Given the description of an element on the screen output the (x, y) to click on. 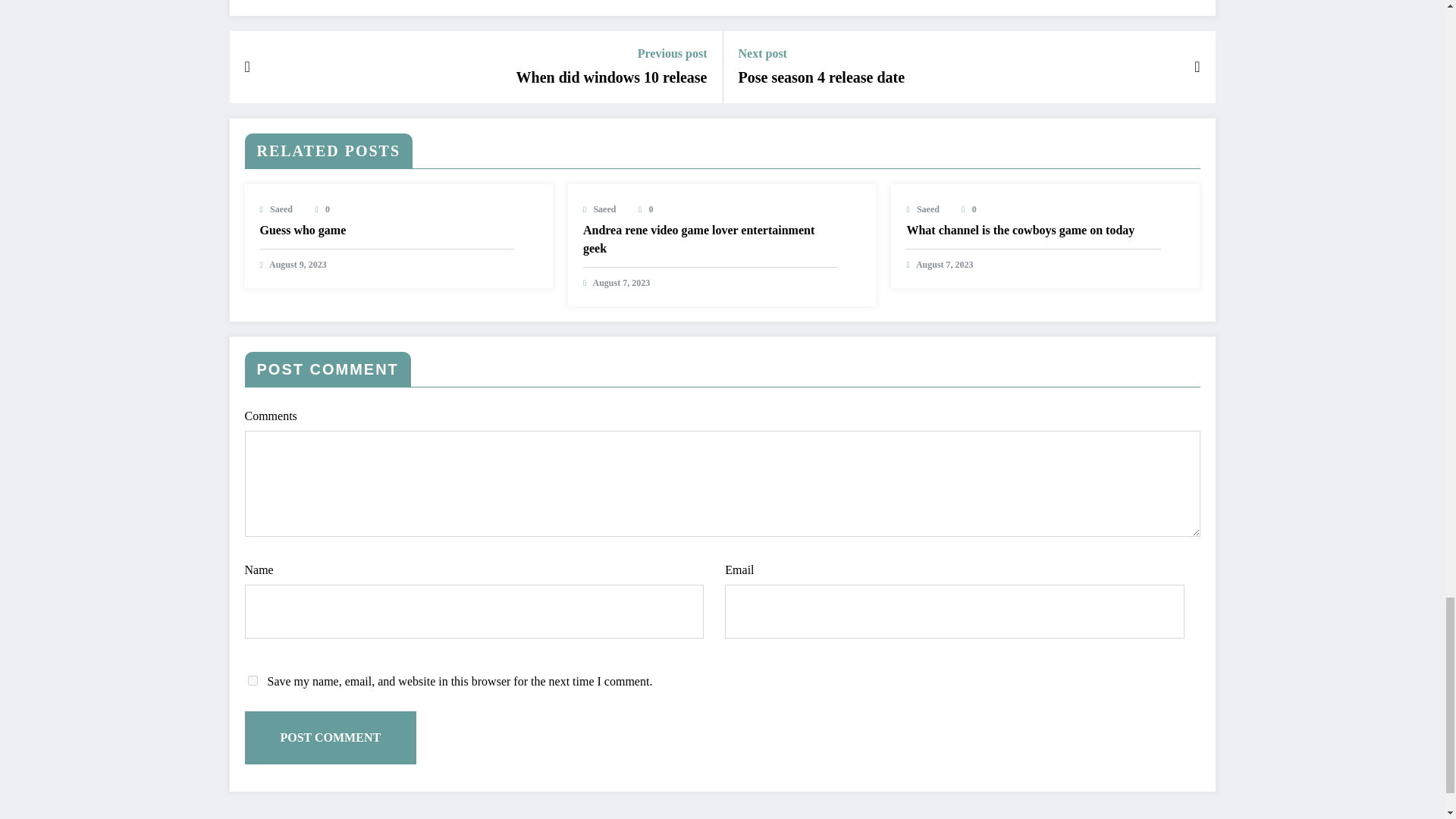
Post Comment (330, 737)
yes (252, 680)
Next post (821, 52)
Previous post (611, 52)
When did windows 10 release (611, 76)
Pose season 4 release date (821, 76)
Saeed (280, 208)
